Given the description of an element on the screen output the (x, y) to click on. 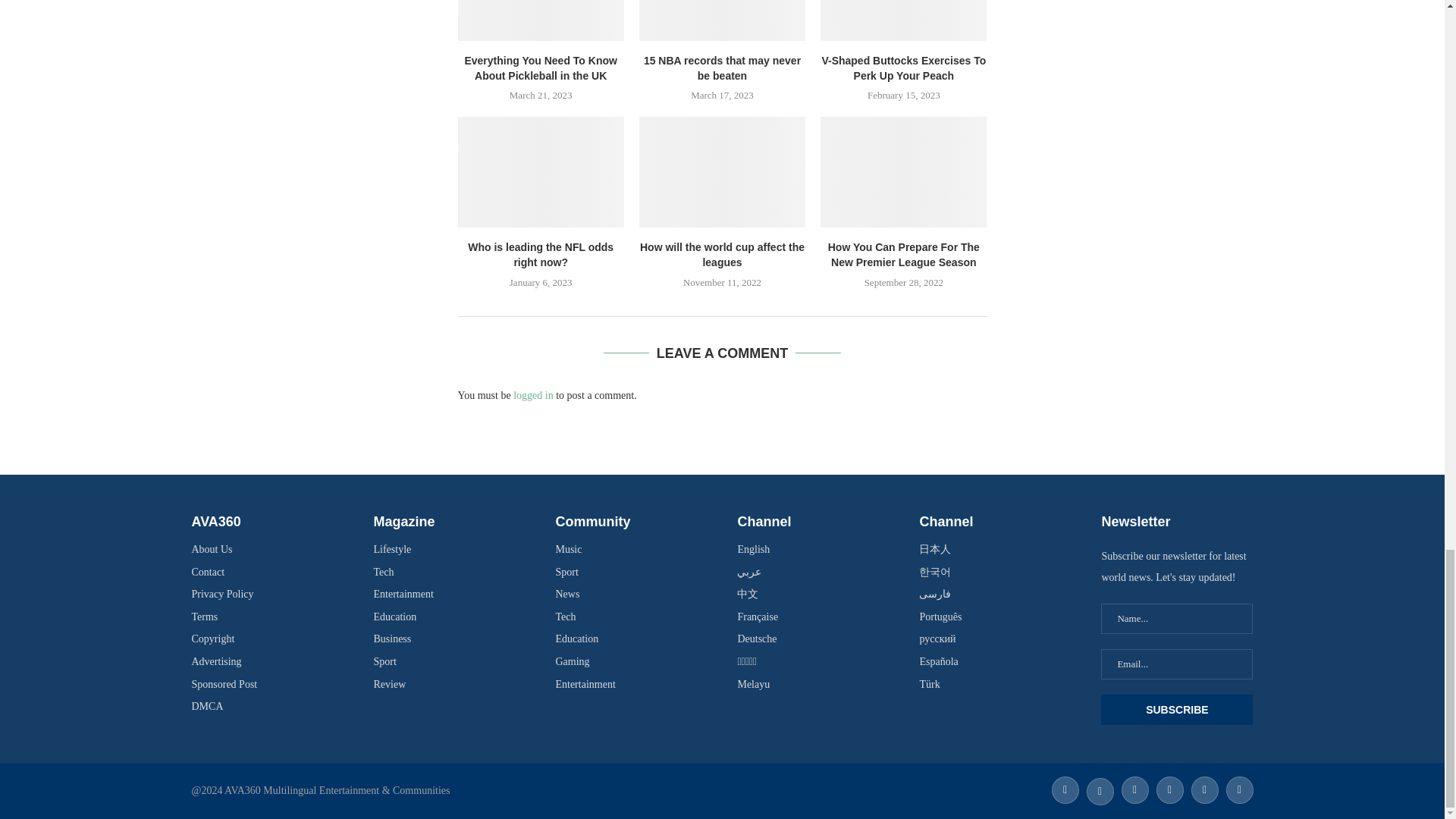
Who is leading the NFL odds right now? (541, 172)
How will the world cup affect the leagues (722, 172)
15 NBA records that may never be beaten (722, 20)
V-Shaped Buttocks Exercises To Perk Up Your Peach (904, 20)
Everything You Need To Know About Pickleball in the UK (541, 20)
Subscribe (1176, 709)
How You Can Prepare For The New Premier League Season (904, 172)
